Given the description of an element on the screen output the (x, y) to click on. 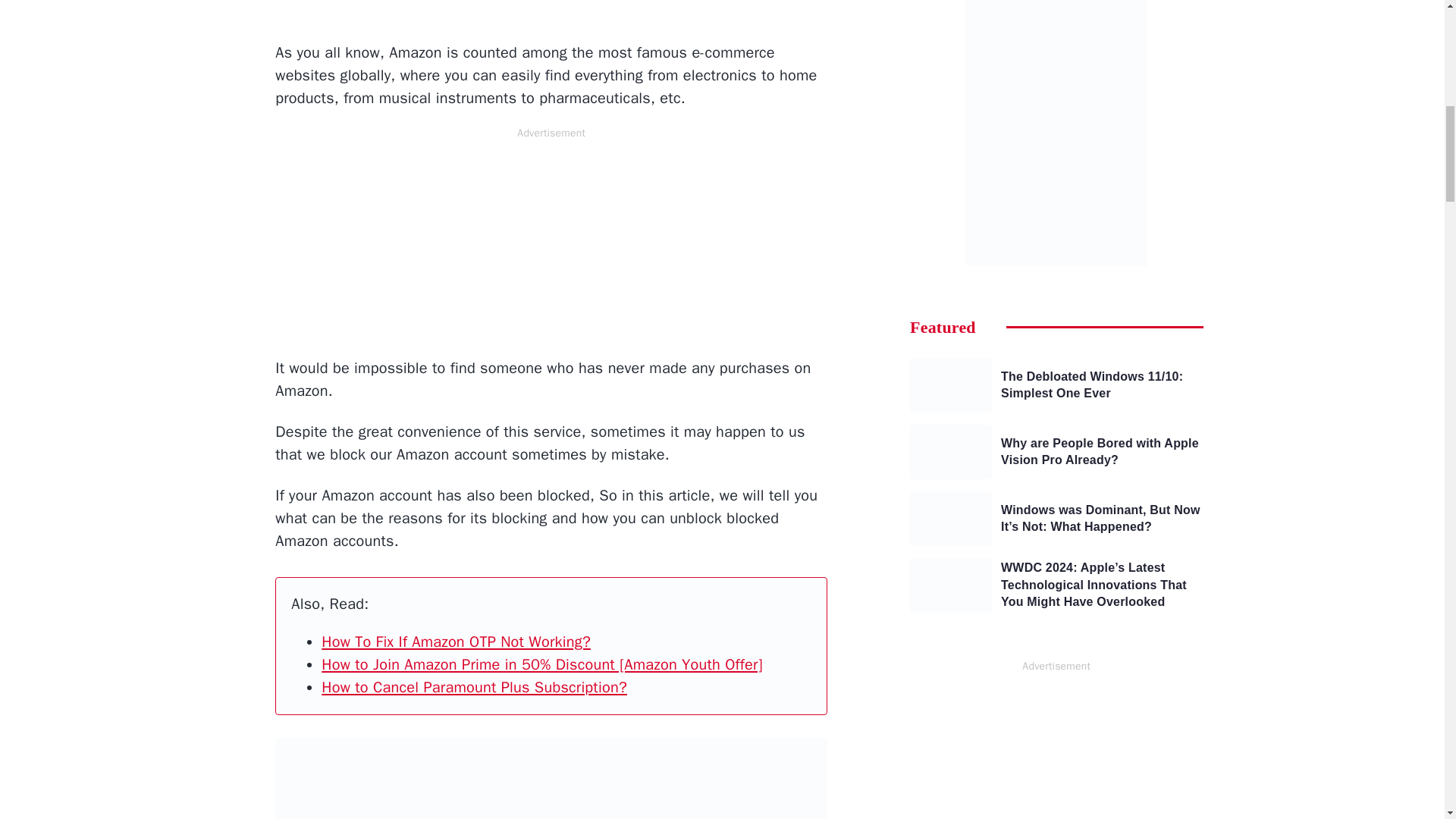
How to Cancel Paramount Plus Subscription? (474, 687)
How To Fix If Amazon OTP Not Working? (456, 641)
